Given the description of an element on the screen output the (x, y) to click on. 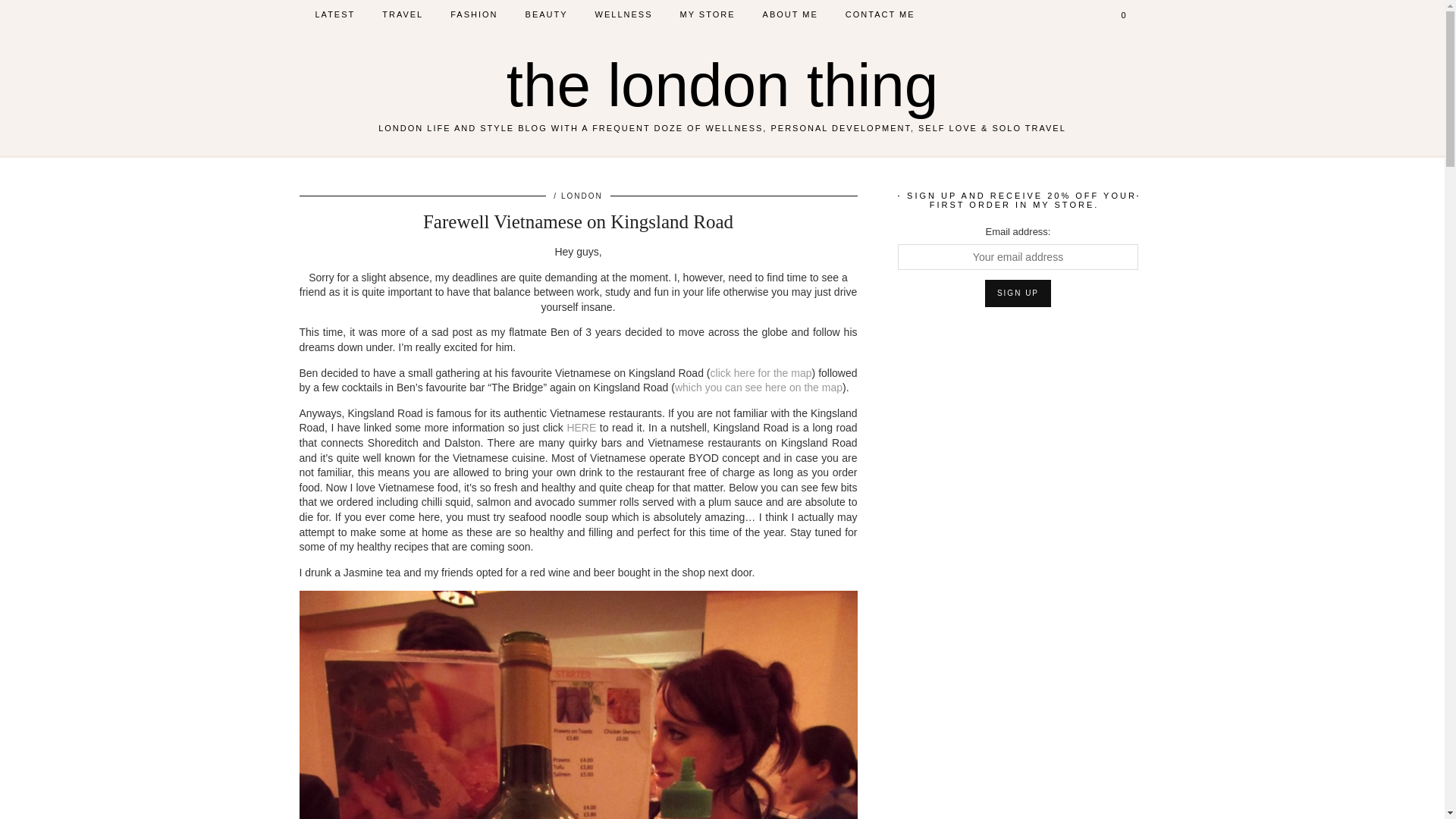
ABOUT ME (790, 14)
BEAUTY (546, 14)
HERE (580, 427)
the london thing (721, 84)
click here for the map (761, 372)
MY STORE (706, 14)
which you can see here on the map (759, 387)
CONTACT ME (879, 14)
FASHION (473, 14)
Sign up (1018, 293)
the london thing (721, 84)
LATEST (335, 14)
LONDON (581, 195)
TRAVEL (402, 14)
WELLNESS (623, 14)
